Given the description of an element on the screen output the (x, y) to click on. 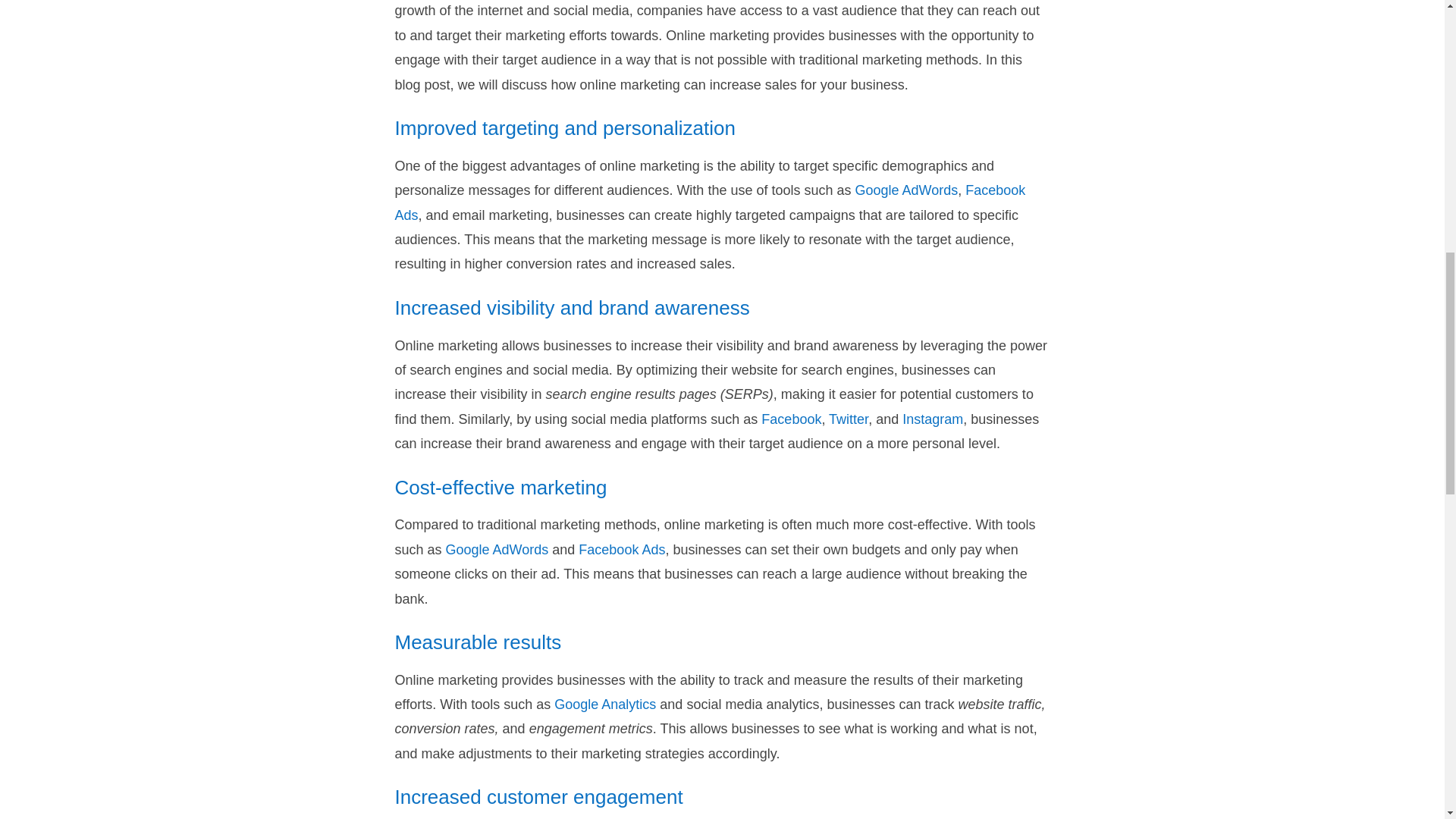
Facebook Ads (621, 549)
Google AdWords (907, 190)
Instagram (932, 418)
Google AdWords (496, 549)
Twitter (847, 418)
Google Analytics (605, 703)
Facebook (791, 418)
Facebook Ads (709, 201)
